Given the description of an element on the screen output the (x, y) to click on. 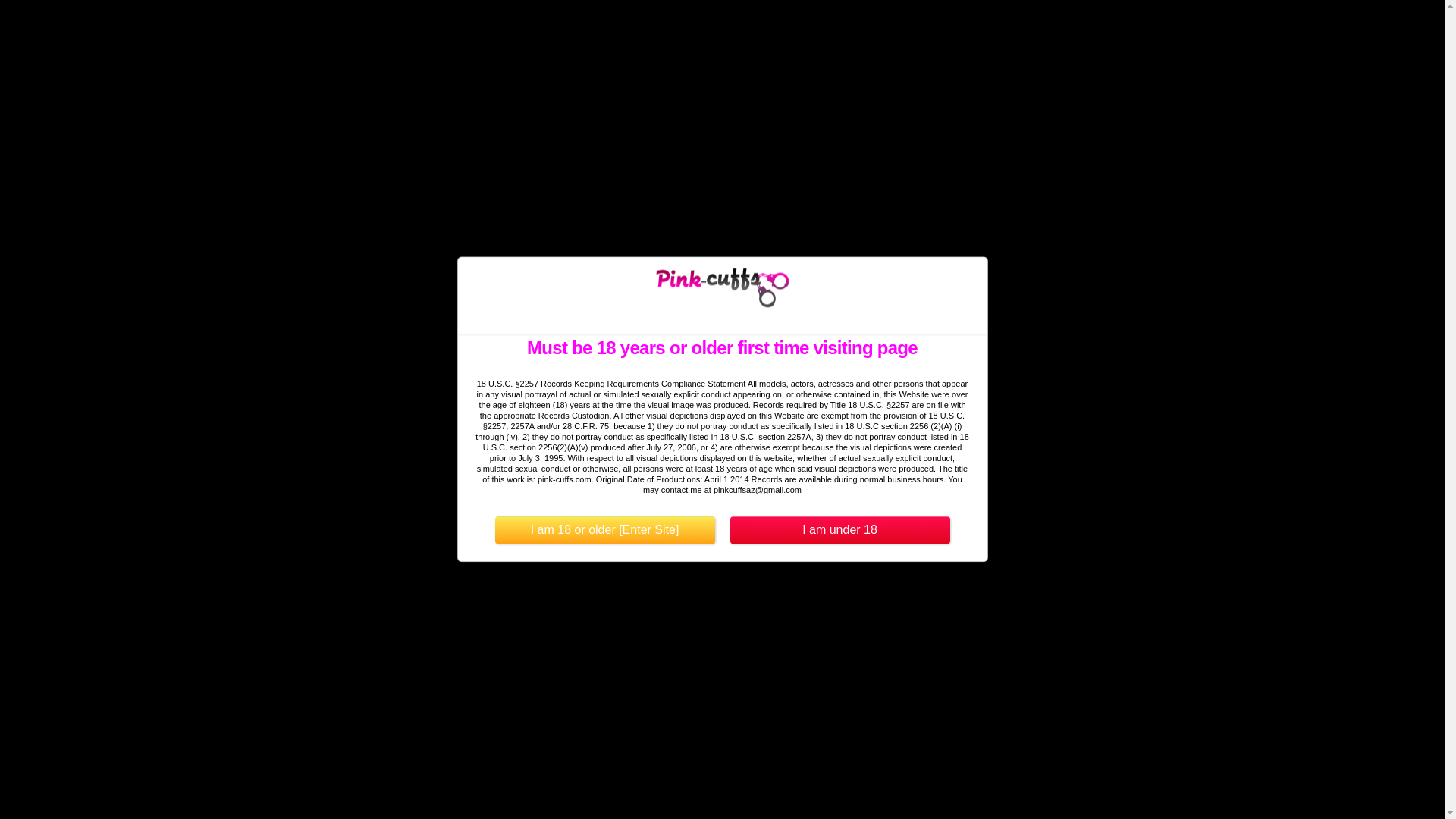
FAQ (864, 26)
I am under 18 (839, 530)
LINKS (812, 26)
